Given the description of an element on the screen output the (x, y) to click on. 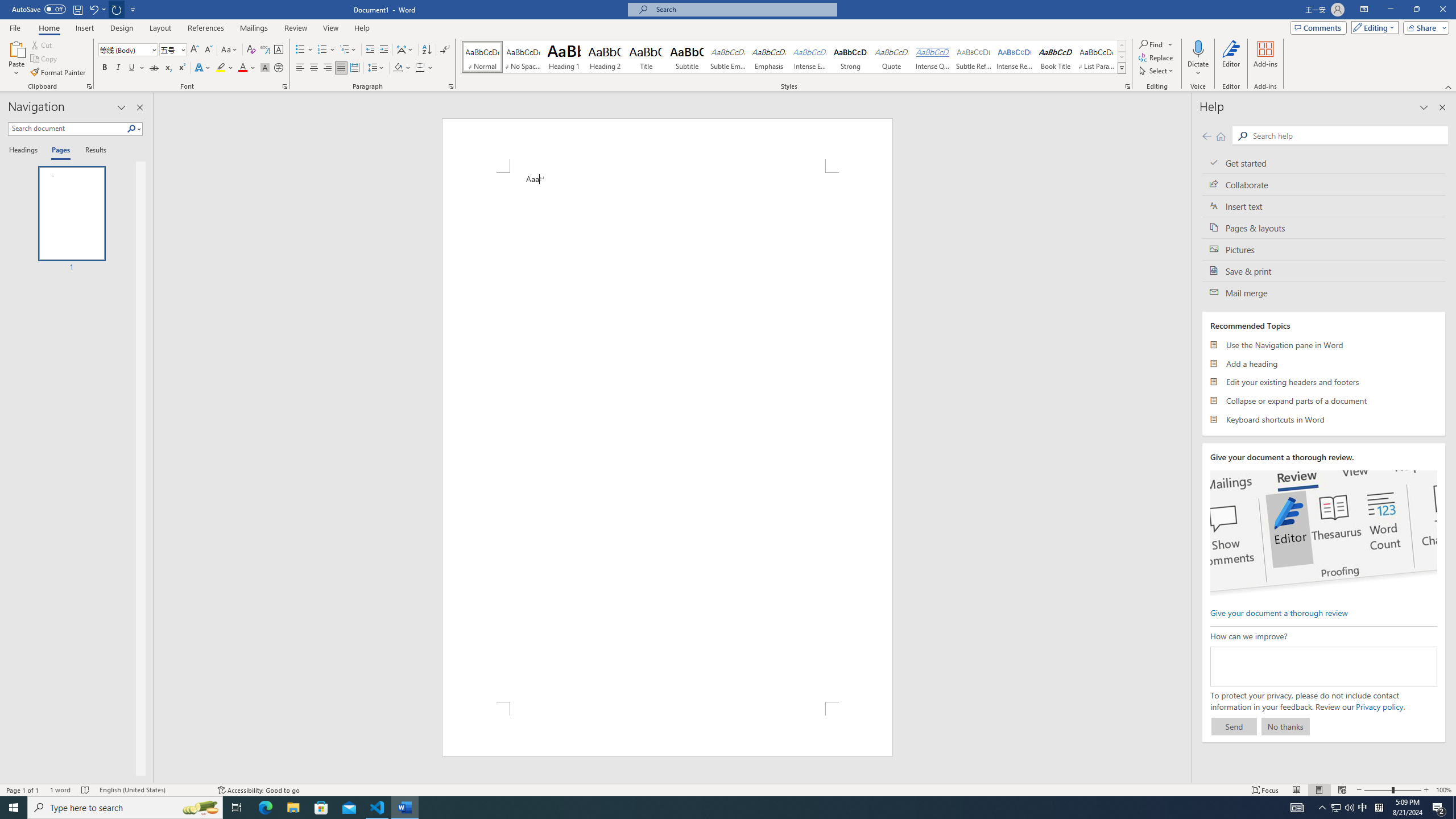
Collapse the Ribbon (1448, 86)
Ribbon Display Options (1364, 9)
Bullets (304, 49)
Font... (285, 85)
Insert text (1323, 206)
Save & print (1323, 270)
Design (122, 28)
Font Color (246, 67)
Paste (16, 58)
Give your document a thorough review (1278, 611)
Underline (131, 67)
Multilevel List (347, 49)
Shading (402, 67)
Enclose Characters... (278, 67)
